Given the description of an element on the screen output the (x, y) to click on. 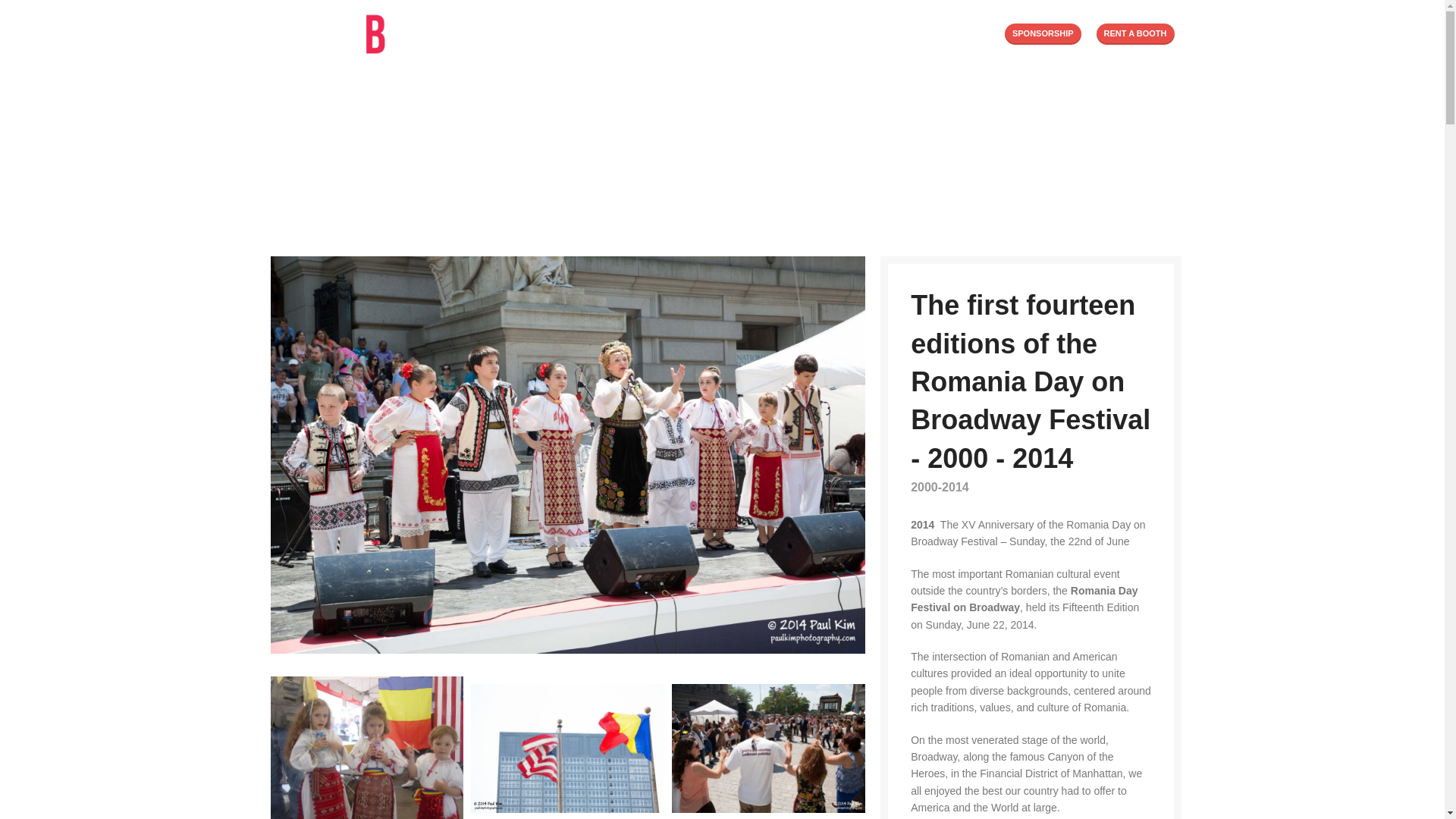
SPONSORSHIP (1042, 34)
RENT A BOOTH (1135, 34)
CONTACT (937, 33)
GUESTS OF HONOUR (829, 33)
ABOUT THE FESTIVAL (597, 33)
HOME (495, 33)
THIS YEAR (716, 33)
